Given the description of an element on the screen output the (x, y) to click on. 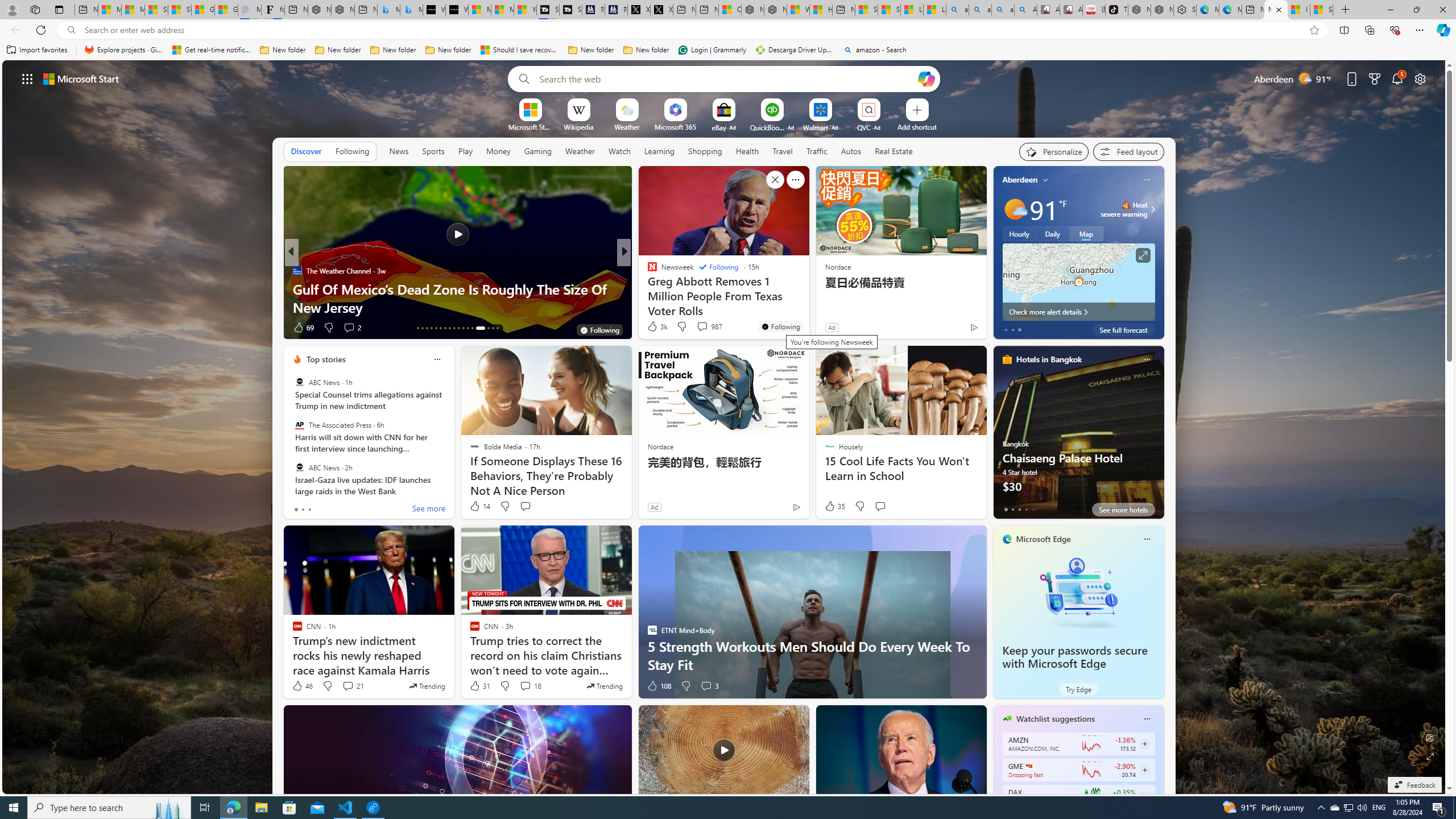
Play (465, 151)
14 Like (479, 505)
View comments 3 Comment (709, 685)
Wildlife - MSN (797, 9)
Mostly sunny (1014, 208)
Gaming (537, 151)
